Given the description of an element on the screen output the (x, y) to click on. 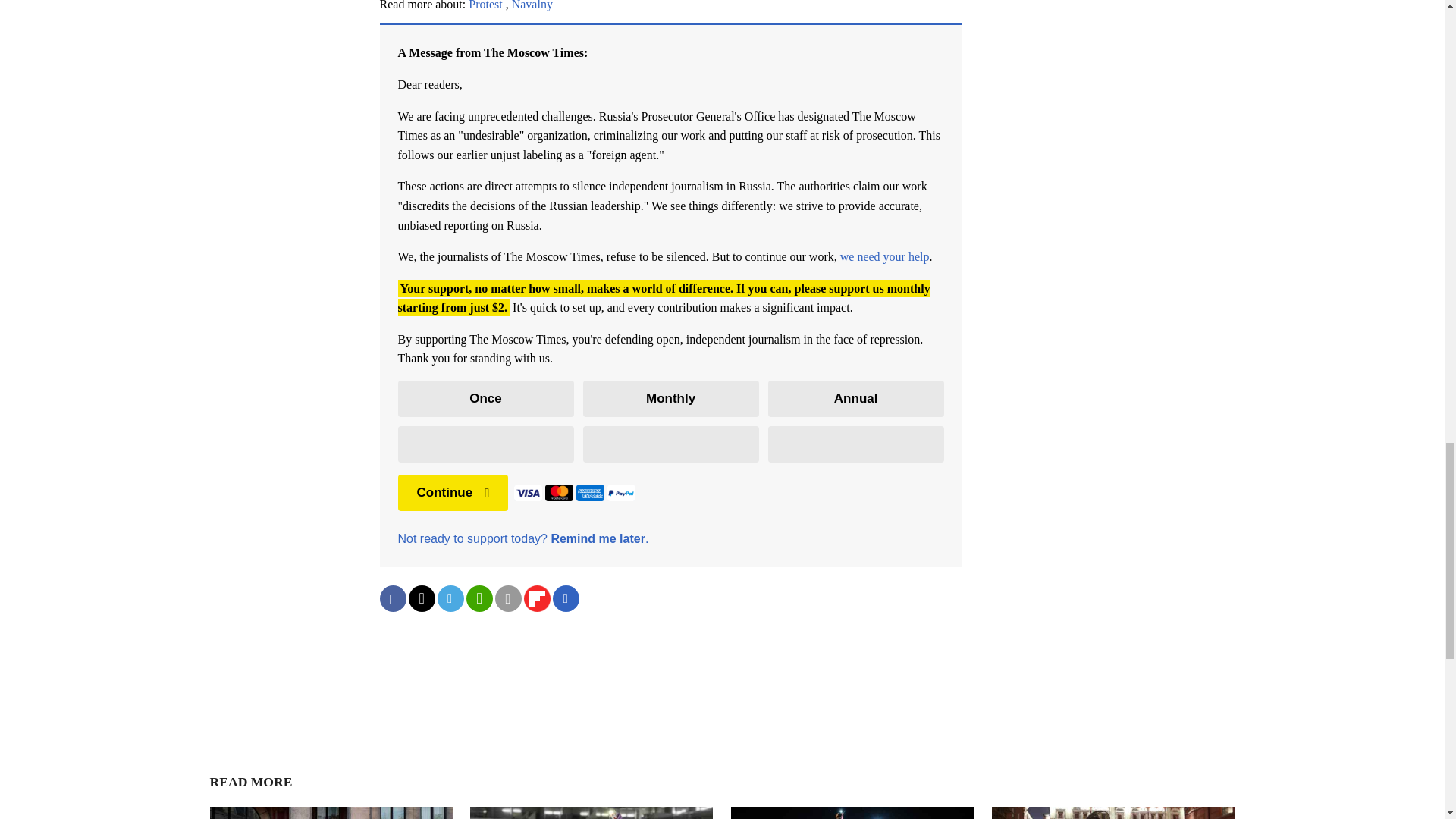
Protest (485, 5)
Share on Twitter (420, 598)
we need your help (885, 256)
Share on Flipboard (536, 598)
Navalny (532, 5)
Share on Facebook (392, 598)
Share on Telegram (449, 598)
